Given the description of an element on the screen output the (x, y) to click on. 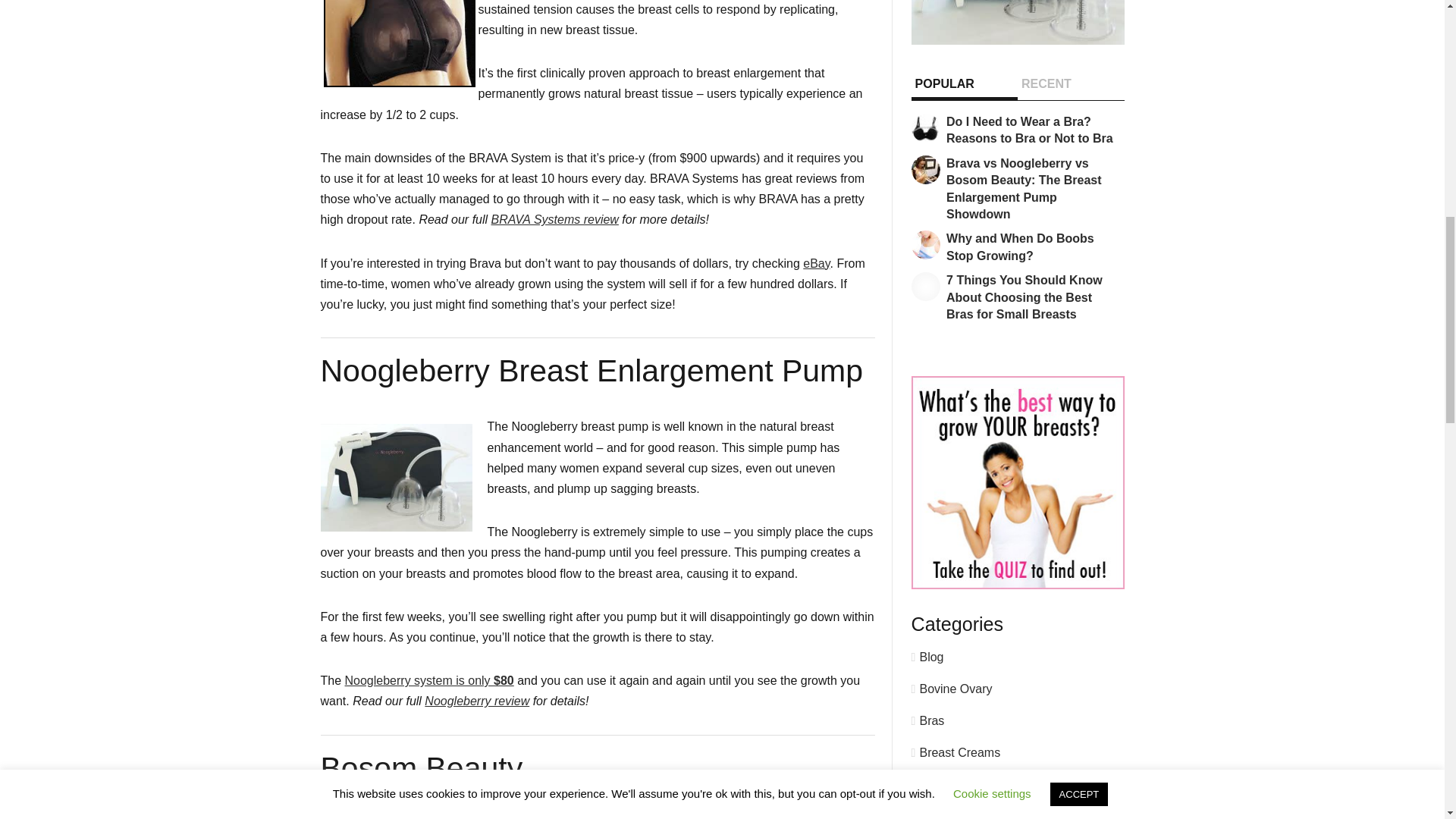
Noogleberry (1017, 40)
Noogleberry review (477, 700)
POPULAR (942, 82)
brava (398, 43)
eBay (816, 263)
BRAVA Systems review (555, 219)
